Given the description of an element on the screen output the (x, y) to click on. 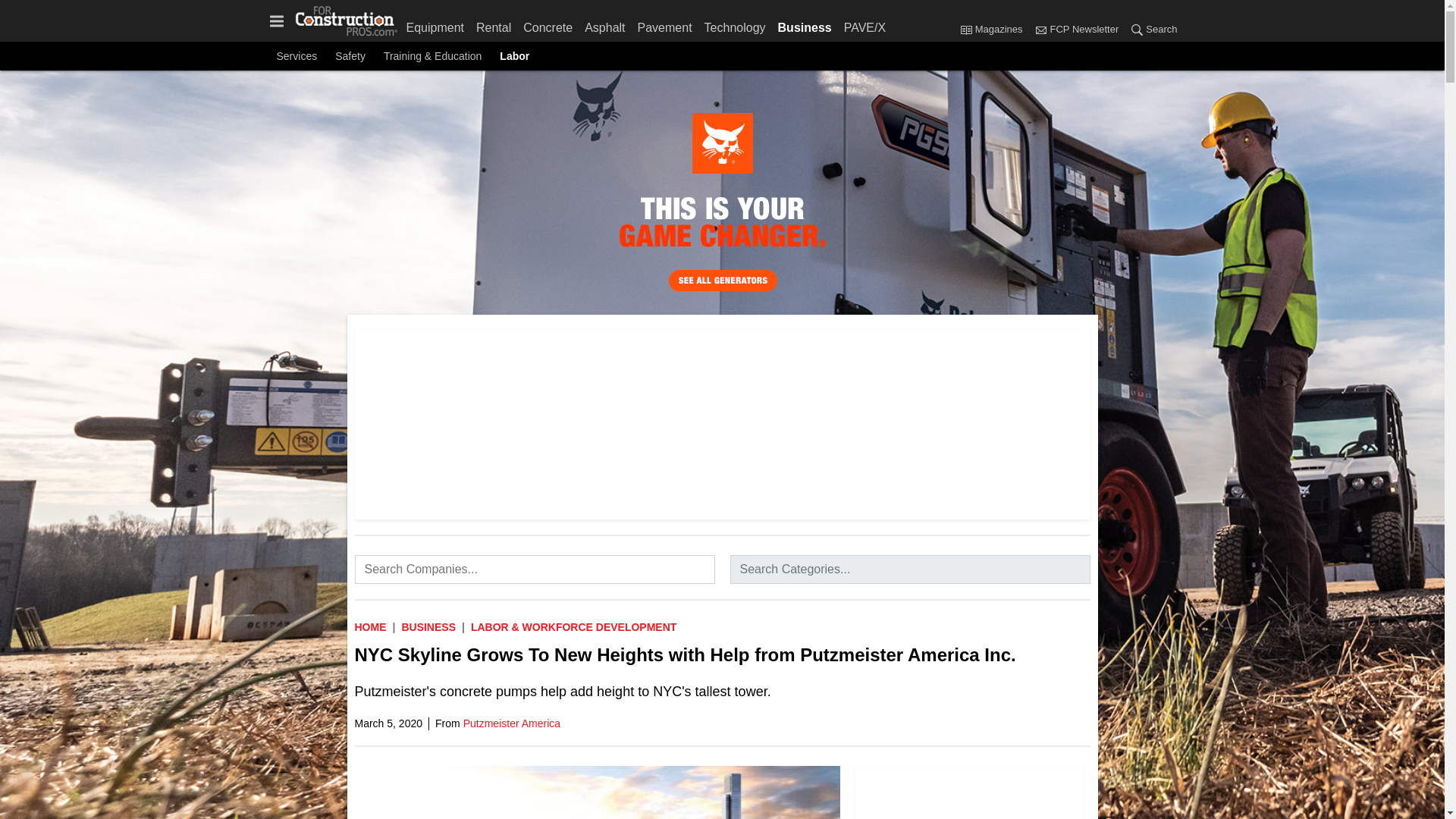
Search (1136, 29)
Home (371, 626)
Equipment (438, 24)
Business (804, 24)
FCP Newsletter (1075, 29)
Rental (493, 24)
Safety (349, 55)
Magazines (965, 29)
